Given the description of an element on the screen output the (x, y) to click on. 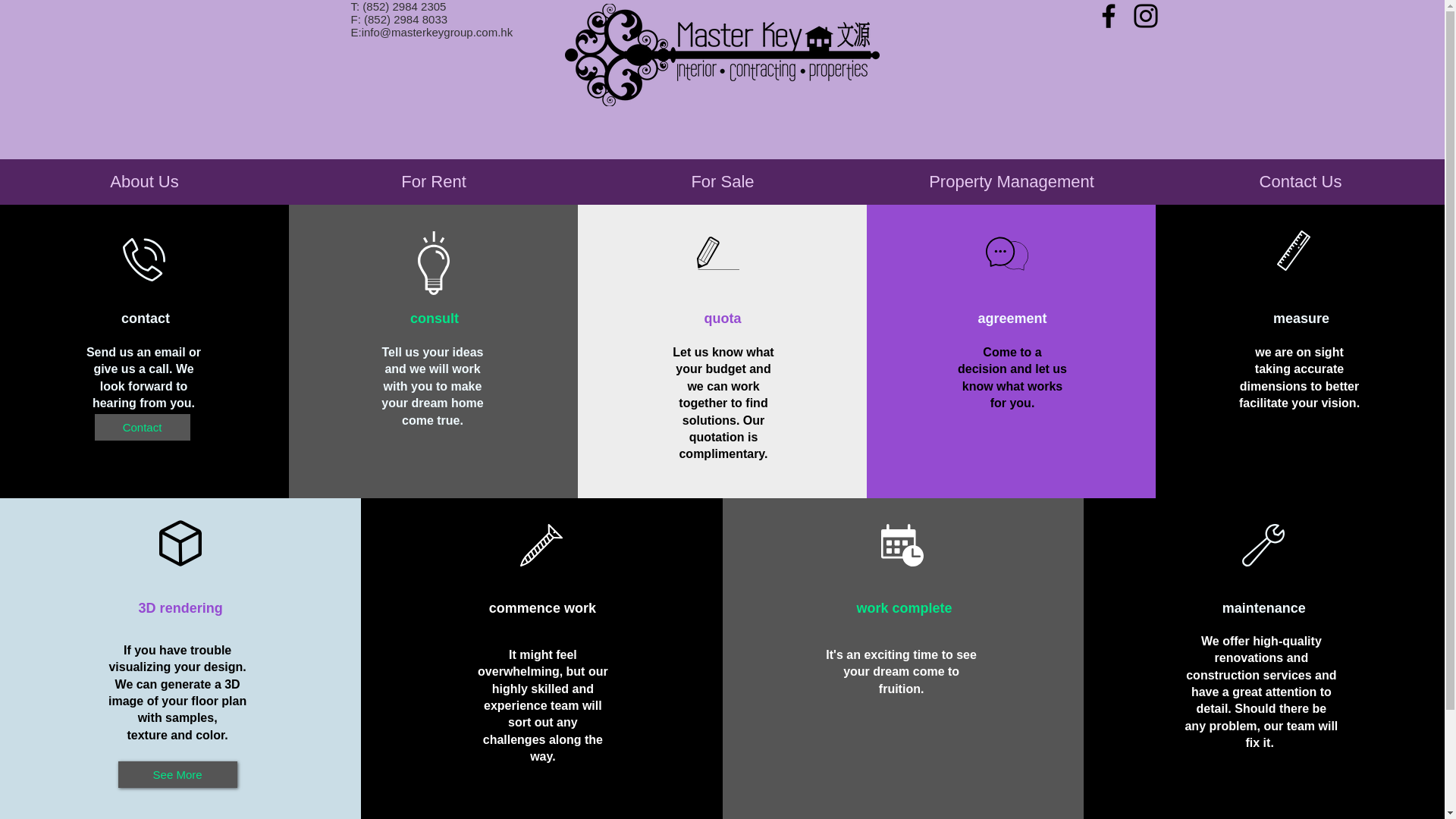
For Rent (433, 181)
Contact (141, 427)
See More (177, 774)
About Us (144, 181)
For Sale (722, 181)
Property Management (1011, 181)
